Given the description of an element on the screen output the (x, y) to click on. 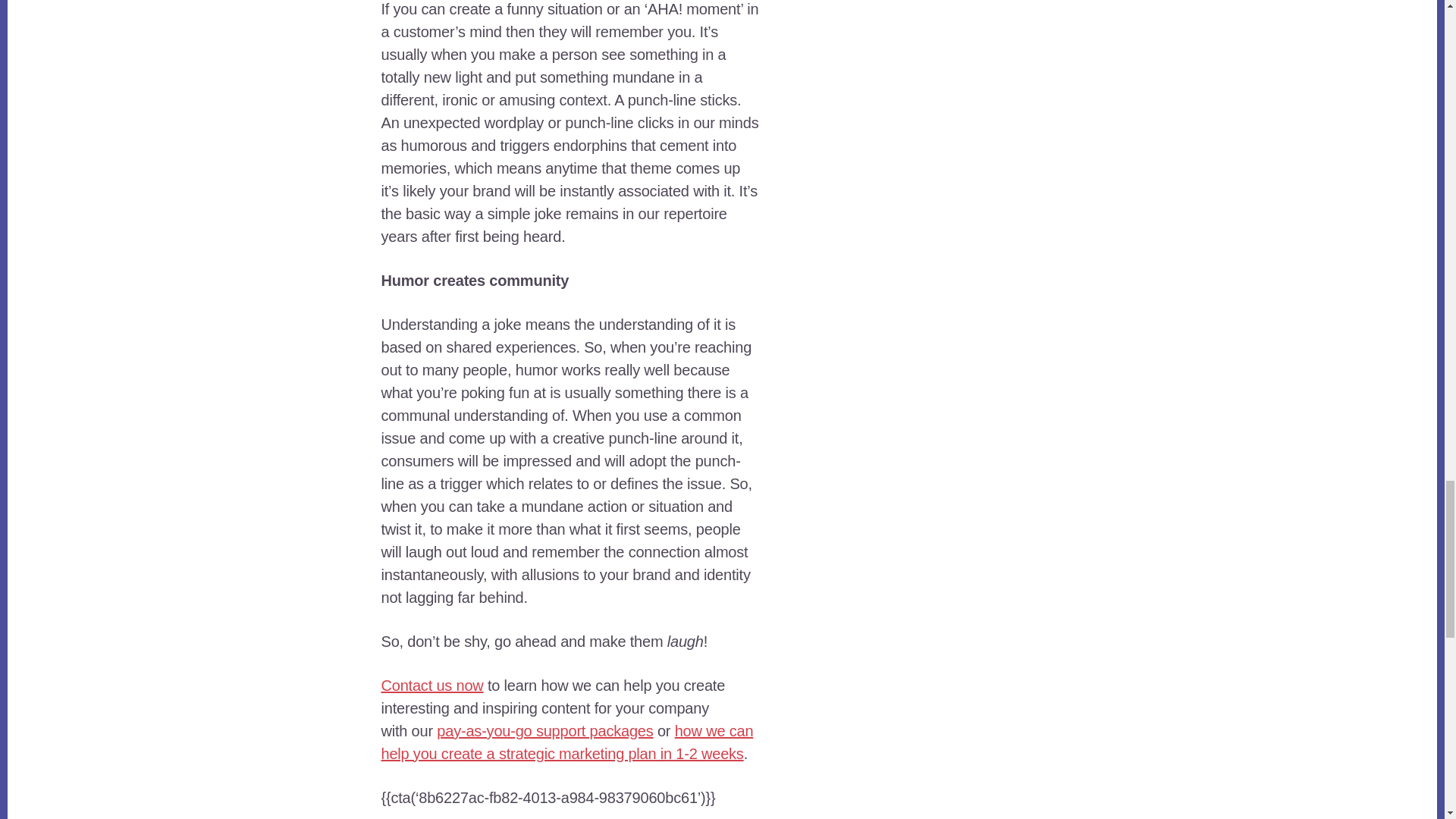
pay-as-you-go support packages (544, 730)
Contact us now (431, 685)
